Given the description of an element on the screen output the (x, y) to click on. 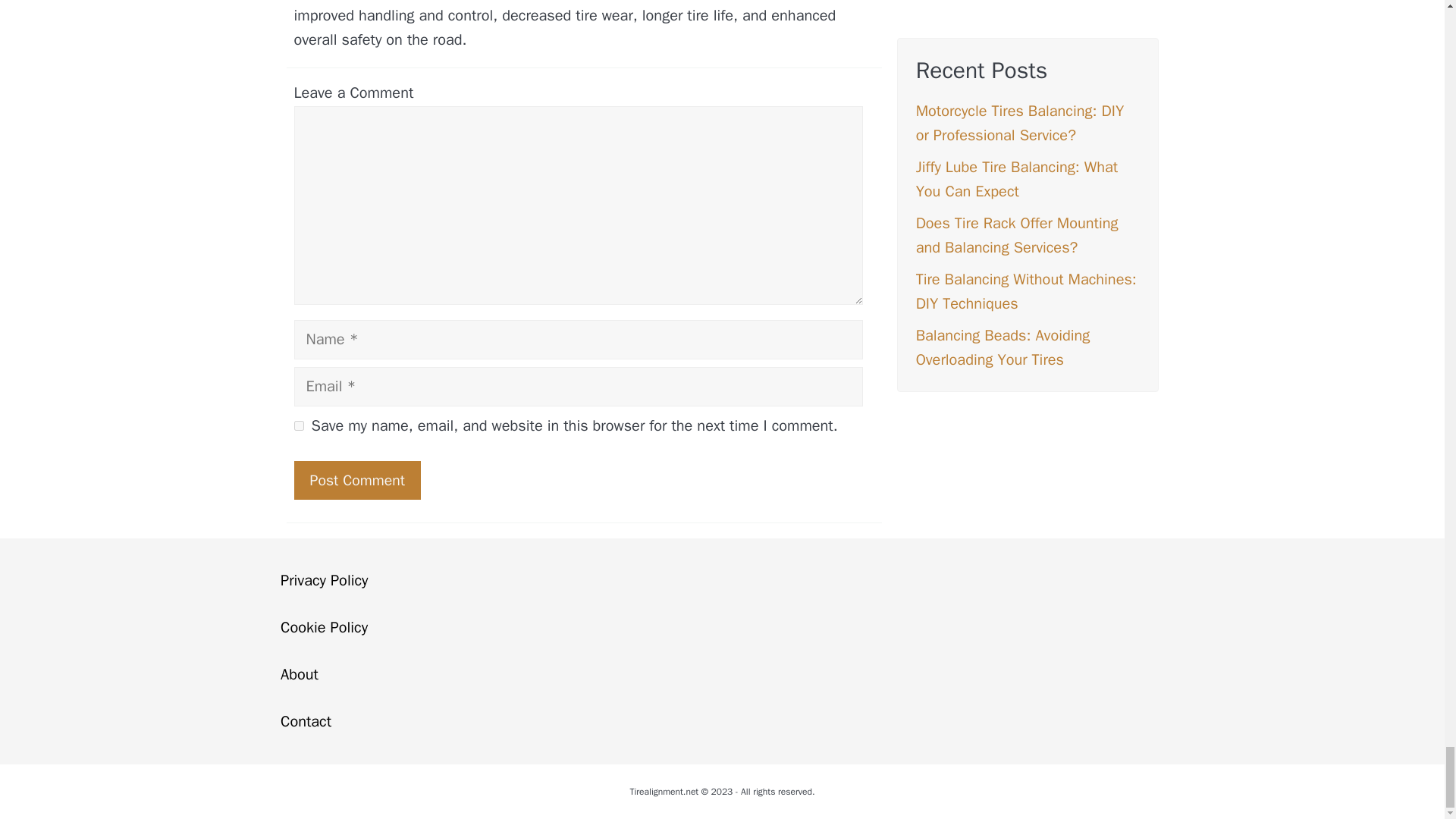
Contact (306, 721)
Post Comment (357, 480)
Post Comment (357, 480)
yes (299, 425)
About (299, 674)
Privacy Policy (324, 579)
Cookie Policy (324, 627)
